Given the description of an element on the screen output the (x, y) to click on. 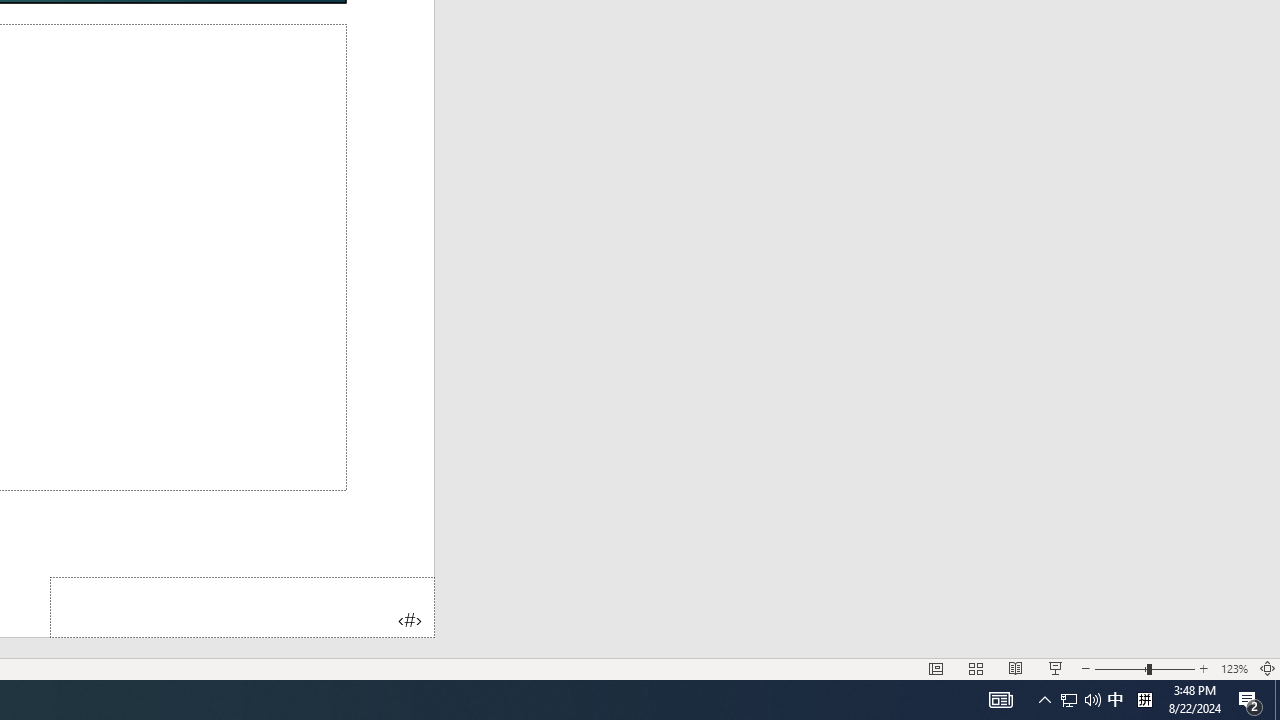
Zoom 123% (1234, 668)
Page Number (242, 606)
